Given the description of an element on the screen output the (x, y) to click on. 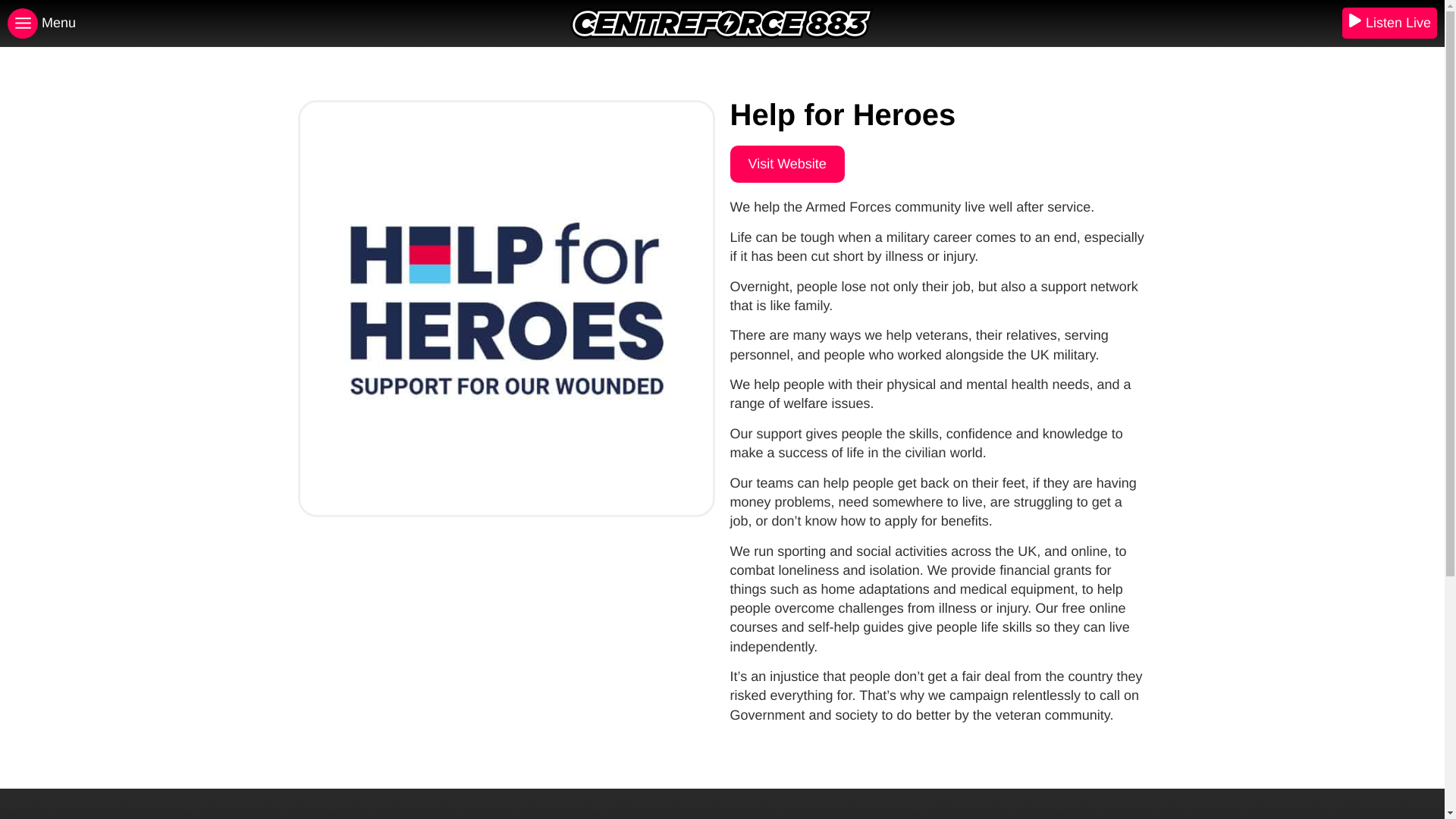
Menu (245, 23)
Listen Live (1389, 22)
